Given the description of an element on the screen output the (x, y) to click on. 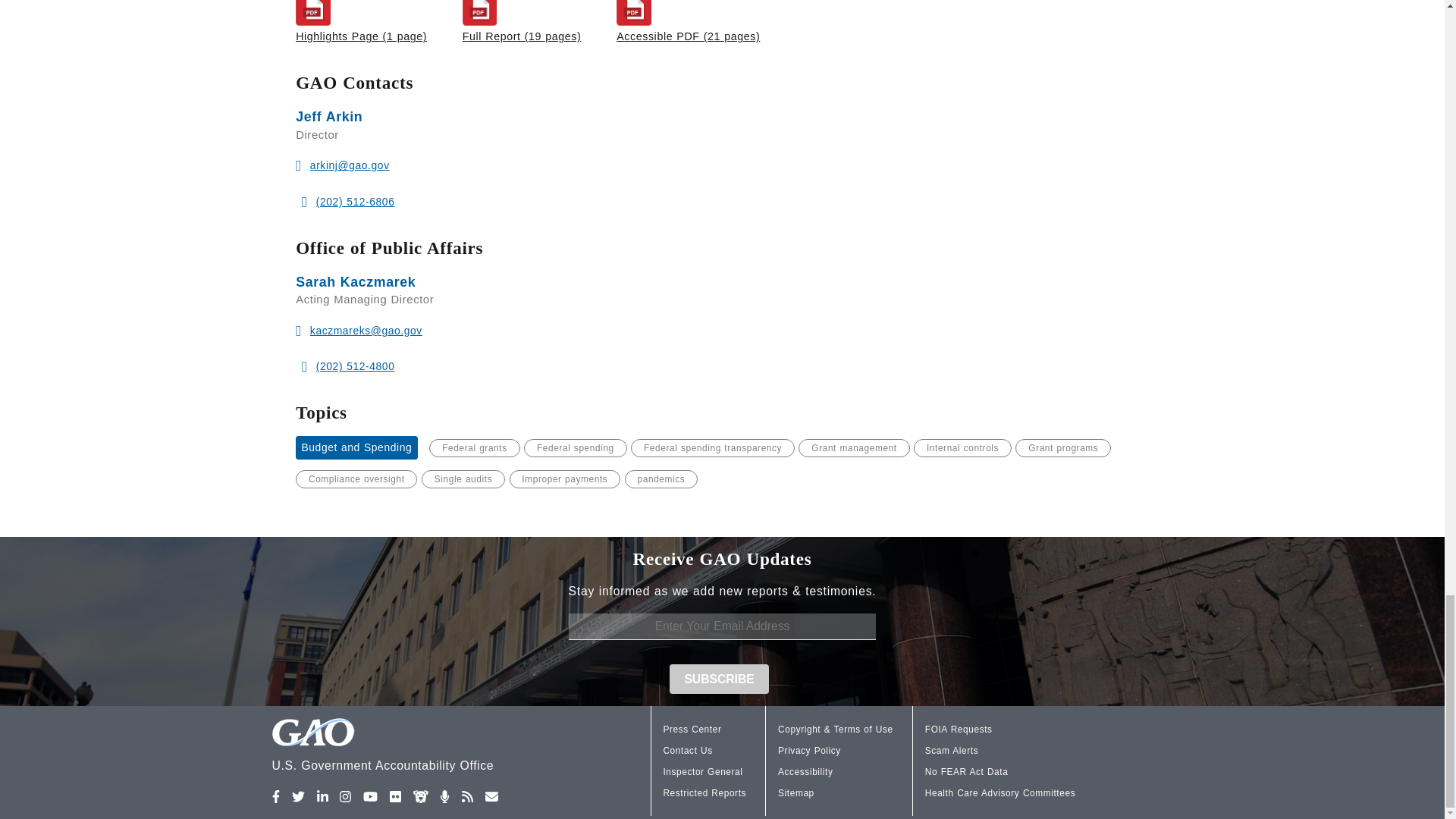
Budget and Spending (355, 447)
Subscribe (719, 678)
Subscribe (719, 678)
Jeff Arkin (328, 116)
Sarah Kaczmarek (354, 281)
Home (421, 747)
U.S. Government Accountability Office   (421, 747)
